Given the description of an element on the screen output the (x, y) to click on. 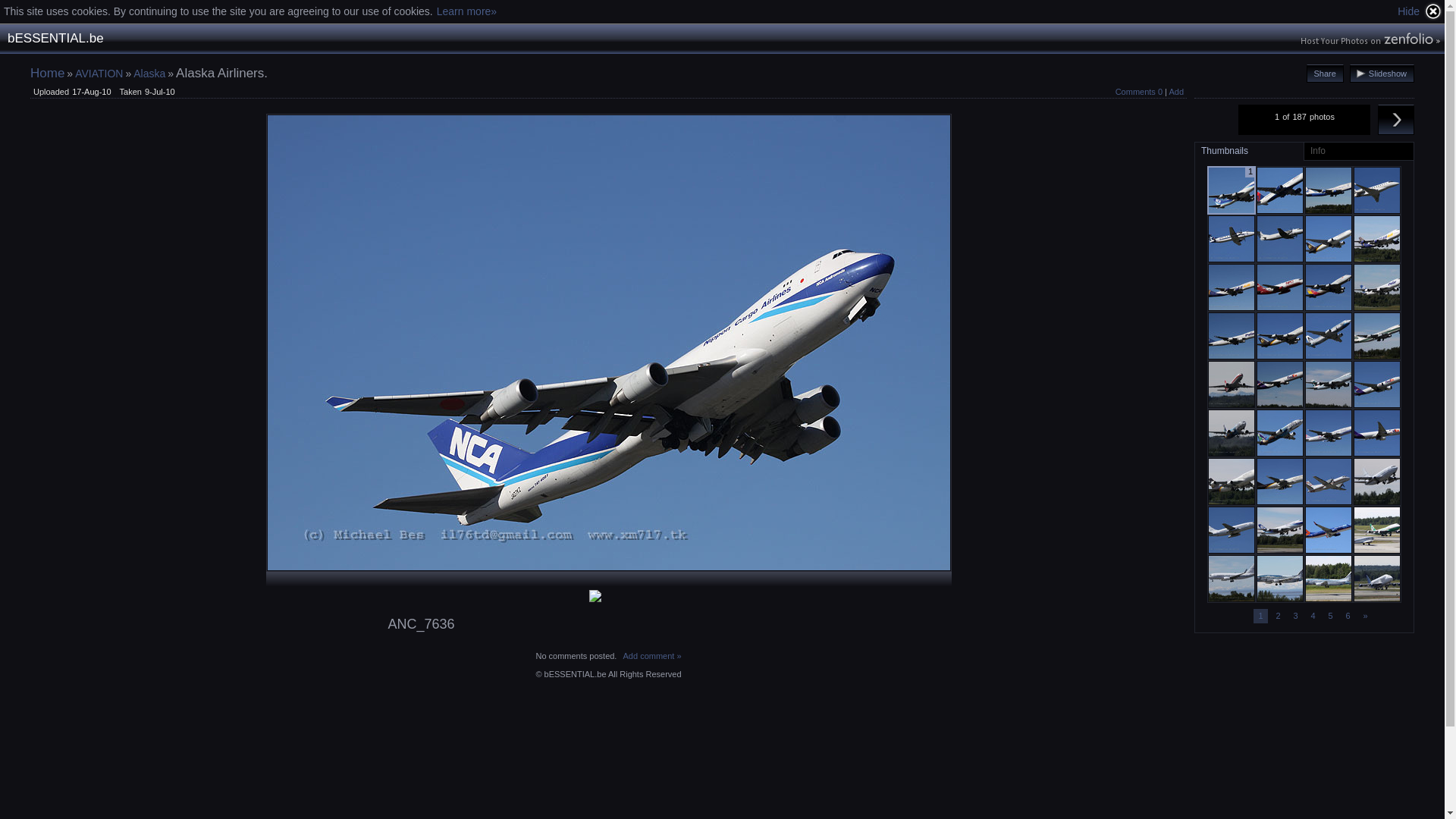
1 Element type: text (1231, 190)
5 Element type: text (1330, 615)
bESSENTIAL.be Element type: text (55, 38)
6 Element type: text (1347, 615)
Next - type Right Arrow Element type: hover (1395, 119)
Alaska Element type: text (149, 73)
AVIATION Element type: text (98, 73)
Comments 0 Element type: text (1138, 91)
Home Element type: text (47, 72)
3 Element type: text (1295, 615)
2 Element type: text (1277, 615)
Hide Element type: text (1419, 11)
Host Your Photos on Zenfolio Element type: hover (1368, 40)
1 Element type: text (1260, 615)
4 Element type: text (1312, 615)
Add Element type: text (1175, 91)
